Given the description of an element on the screen output the (x, y) to click on. 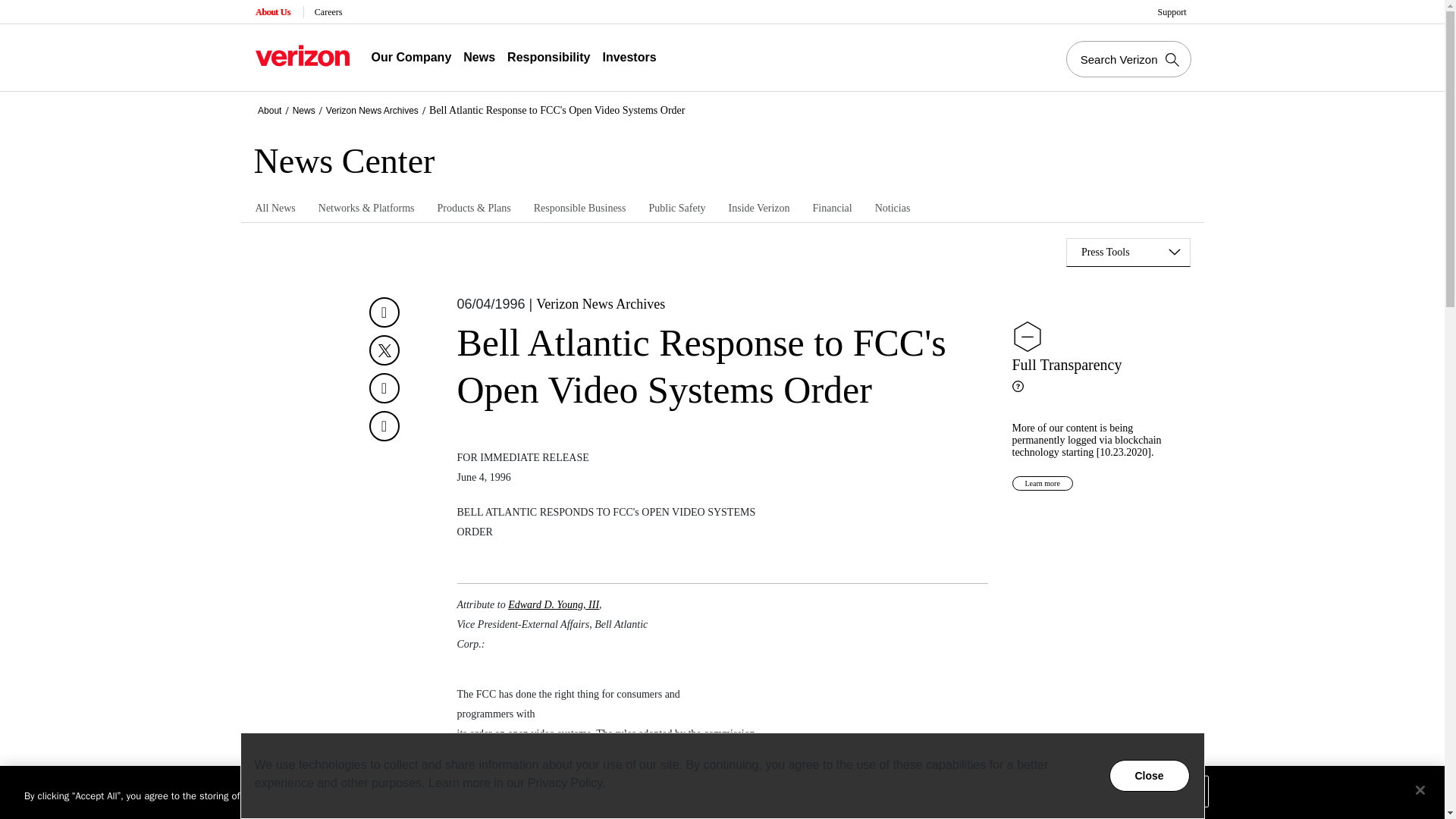
Our Company (411, 57)
About Verizon (301, 55)
About Us (272, 12)
Support (1173, 12)
Careers (329, 12)
